Given the description of an element on the screen output the (x, y) to click on. 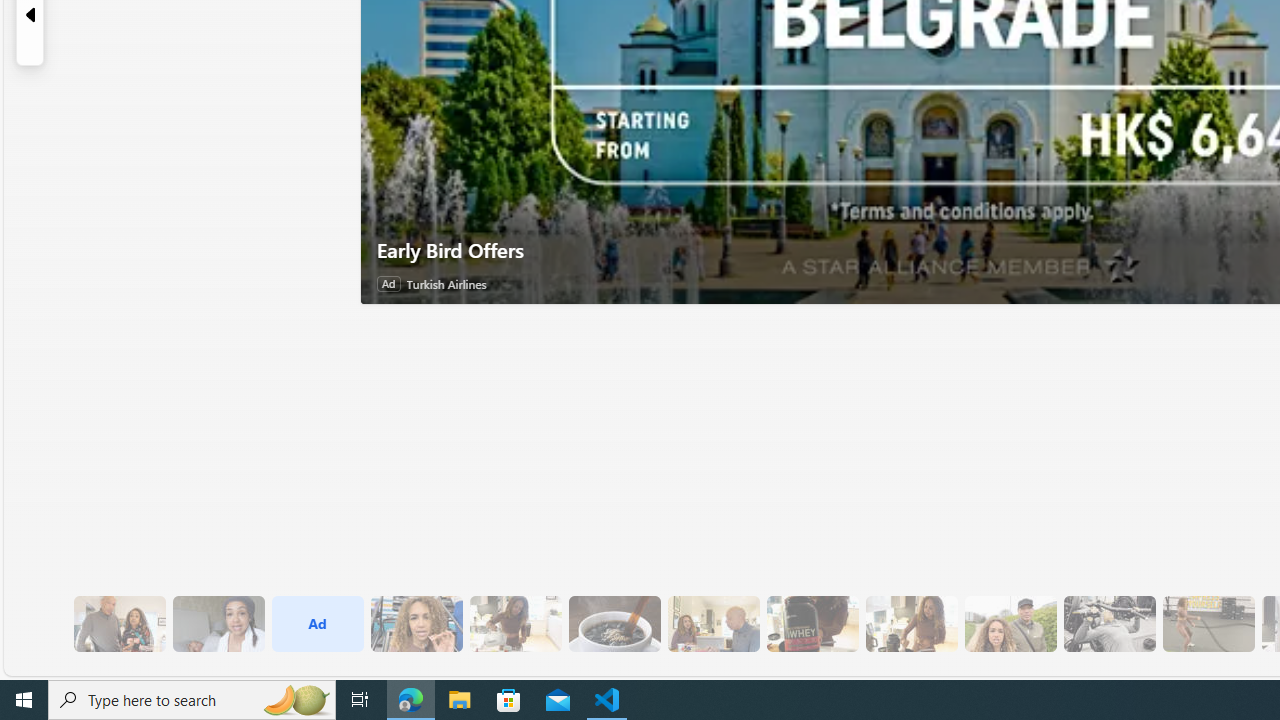
3 They Drink Lemon Tea (514, 624)
7 They Don't Skip Meals (911, 624)
2 They Use Protein Powder for Flavor (416, 624)
1 We Eat a Protein-Packed Pre-Workout Snack (217, 624)
8 They Walk to the Gym (1010, 624)
6 Since Eating More Protein Her Training Has Improved (811, 624)
10 Then, They Do HIIT Cardio (1208, 624)
8 Be Mindful of Coffee (614, 624)
